Given the description of an element on the screen output the (x, y) to click on. 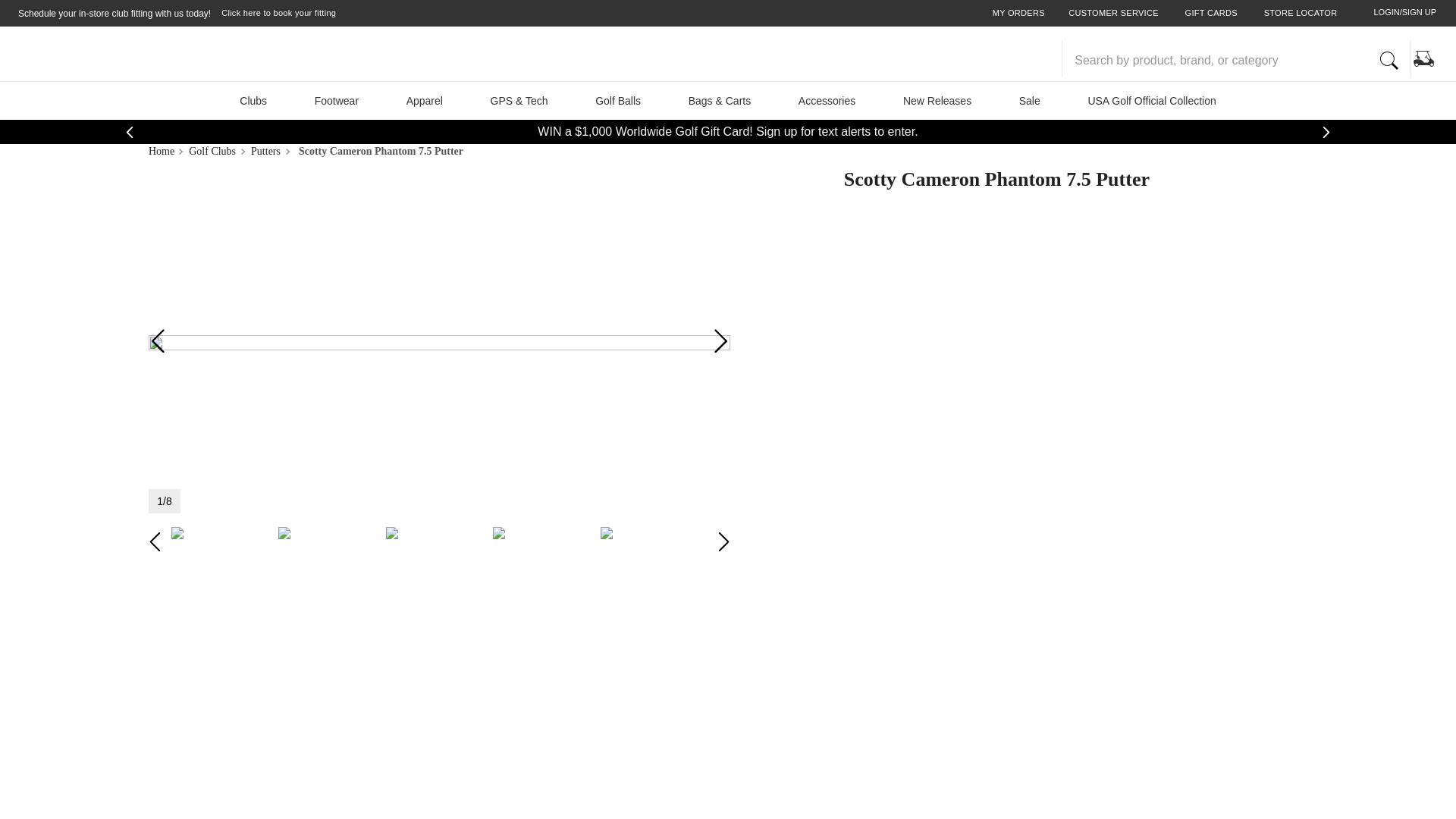
Footwear (335, 100)
New Releases (937, 100)
STORE LOCATOR (1300, 13)
Clubs (252, 100)
GIFT CARDS (1211, 13)
Apparel (423, 100)
Golf Clubs (214, 151)
Sale (1029, 100)
MY ORDERS (1018, 13)
Putters (267, 151)
GPS-Tech (518, 100)
Clubs (252, 100)
CUSTOMER SERVICE (1113, 13)
Click here to book your fitting (278, 13)
Footwear (335, 100)
